Given the description of an element on the screen output the (x, y) to click on. 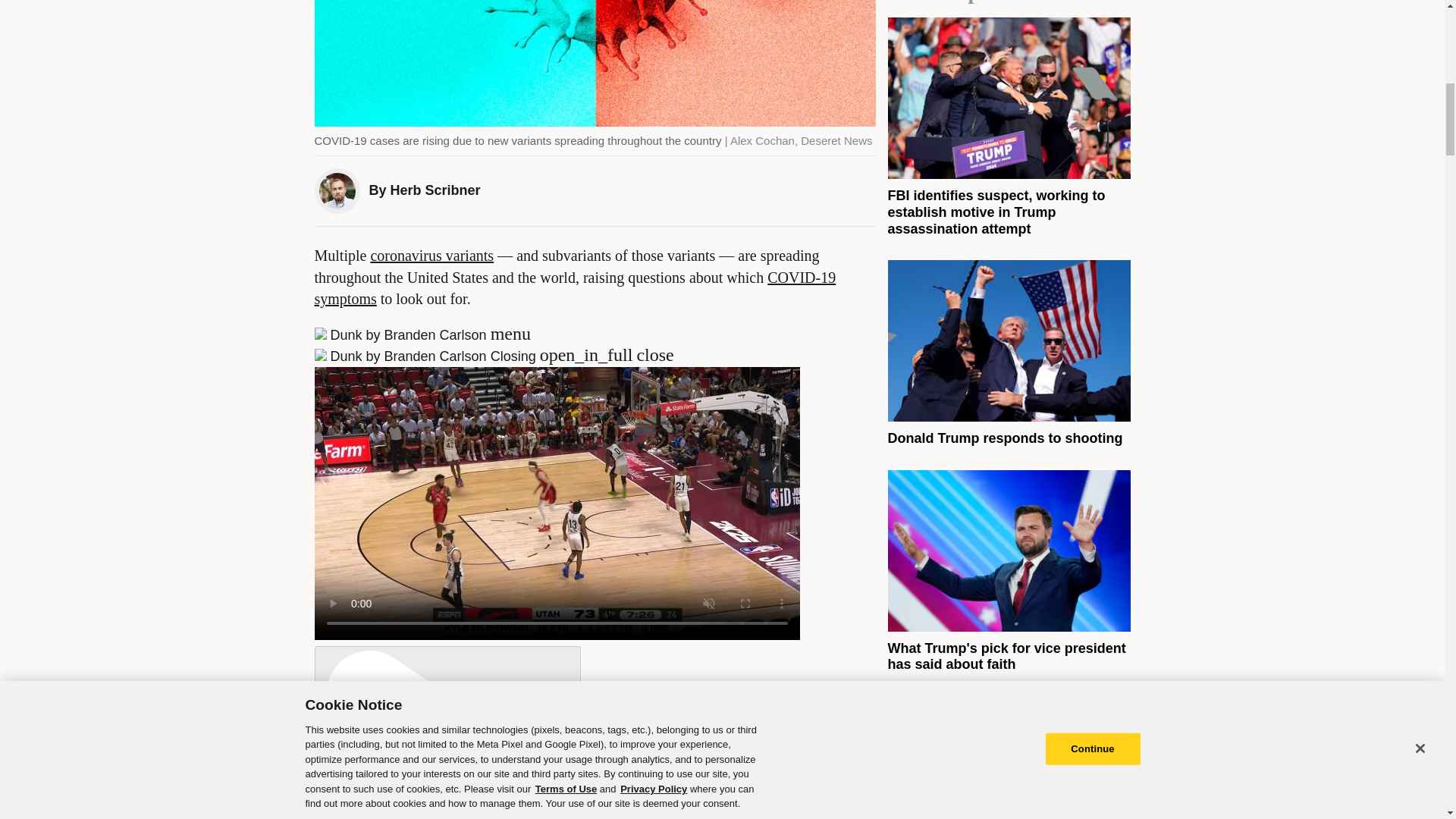
coronavirus variants (431, 255)
Herb Scribner (435, 190)
COVID-19 symptoms (574, 288)
